Given the description of an element on the screen output the (x, y) to click on. 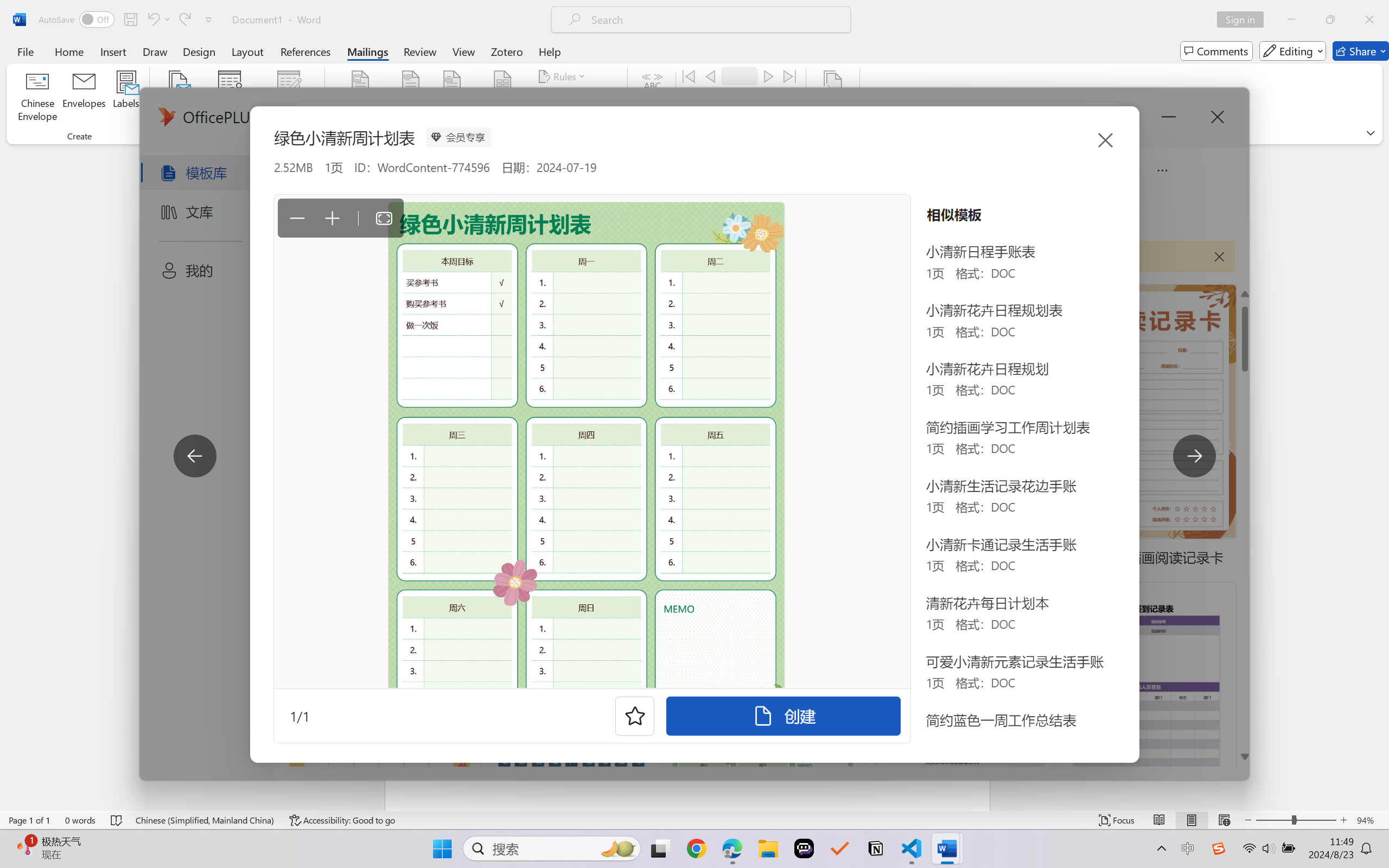
Next (768, 75)
Language Chinese (Simplified, Mainland China) (205, 819)
Chinese Envelope... (37, 97)
